Given the description of an element on the screen output the (x, y) to click on. 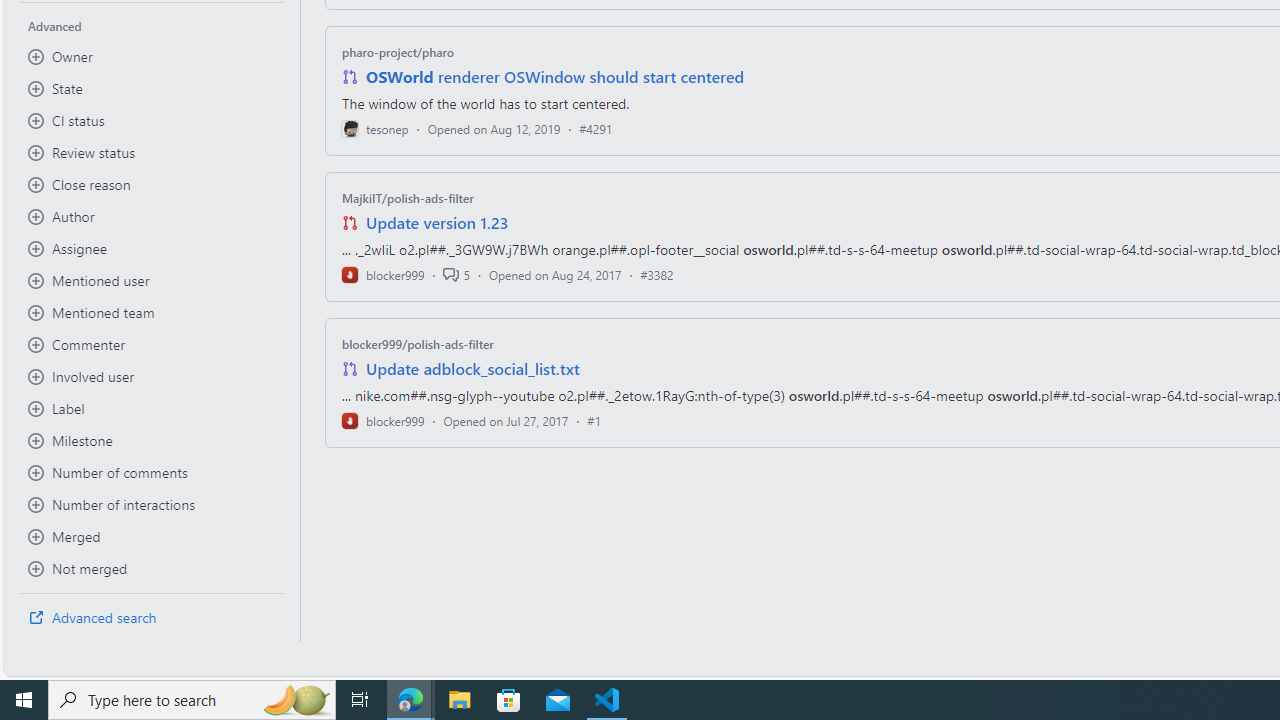
Advanced search (152, 617)
#4291 (595, 128)
OSWorld renderer OSWindow should start centered (554, 76)
Update adblock_social_list.txt (472, 368)
#3382 (657, 273)
